Given the description of an element on the screen output the (x, y) to click on. 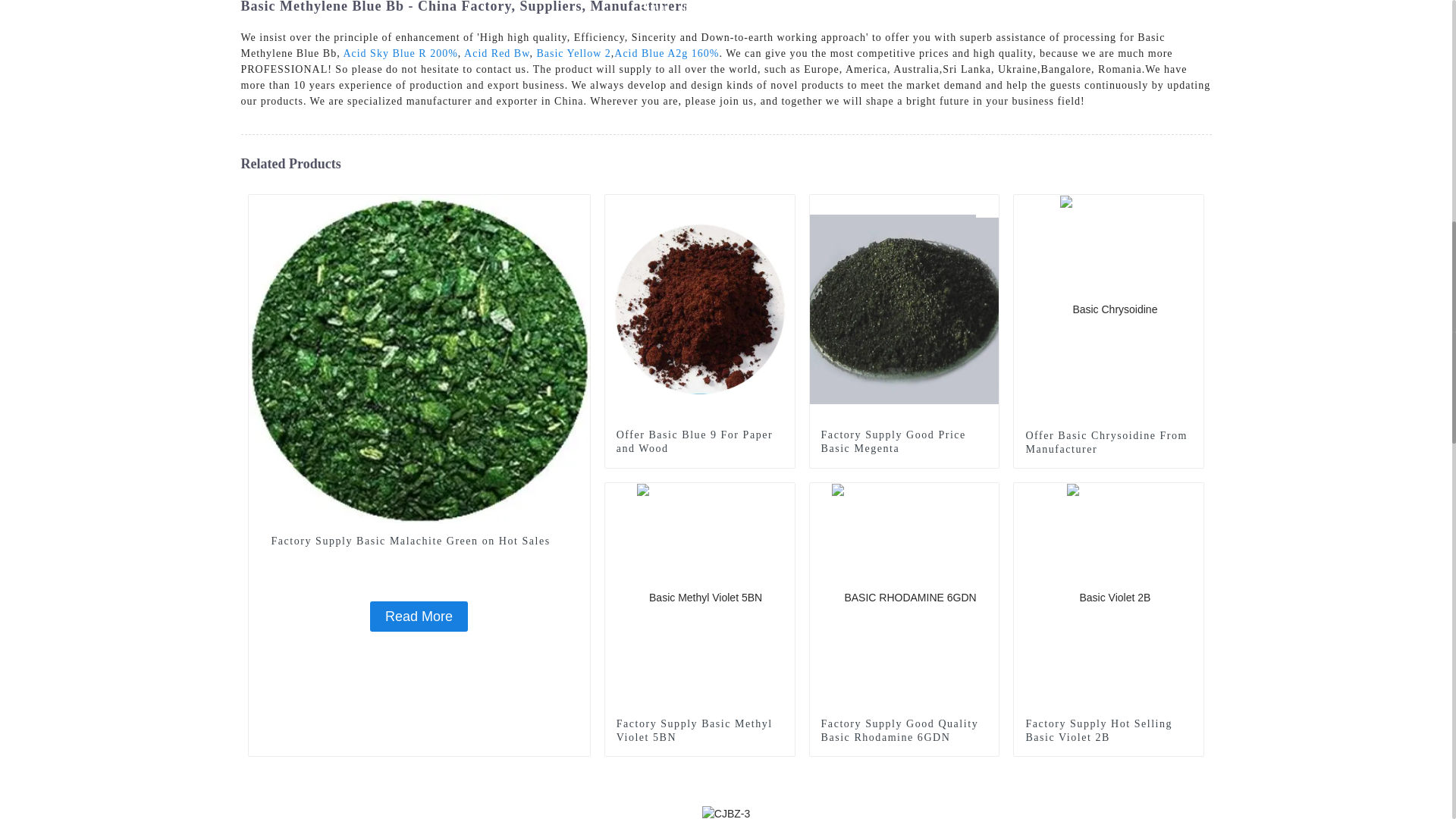
Factory Supply Basic Methyl Violet 5BN (699, 596)
Factory Supply Good Quality Basic Rhodamine 6GDN (903, 596)
Offer Basic Blue 9 For Paper and Wood (699, 307)
Basic Chrysoidine (1192, 205)
Offer Basic Blue 9 For Paper and Wood (699, 441)
Acid Red Bw (496, 52)
Basic Methylene Blue BB (782, 205)
BASIC RHODAMINE 6GDN (986, 494)
Basic Megenta (986, 205)
Factory Supply Basic Malachite Green on Hot Sales (418, 616)
